Given the description of an element on the screen output the (x, y) to click on. 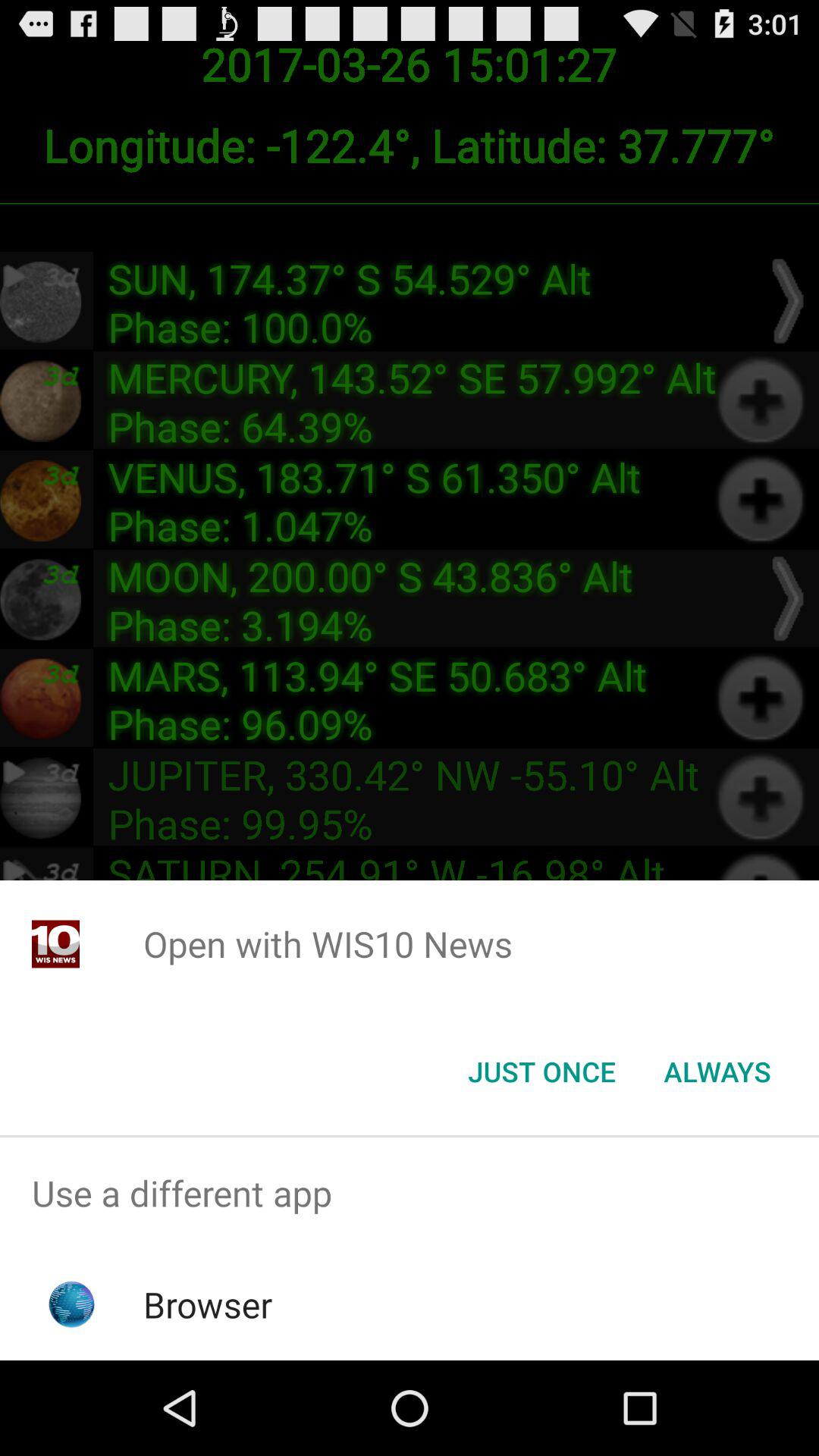
scroll until always button (717, 1071)
